Given the description of an element on the screen output the (x, y) to click on. 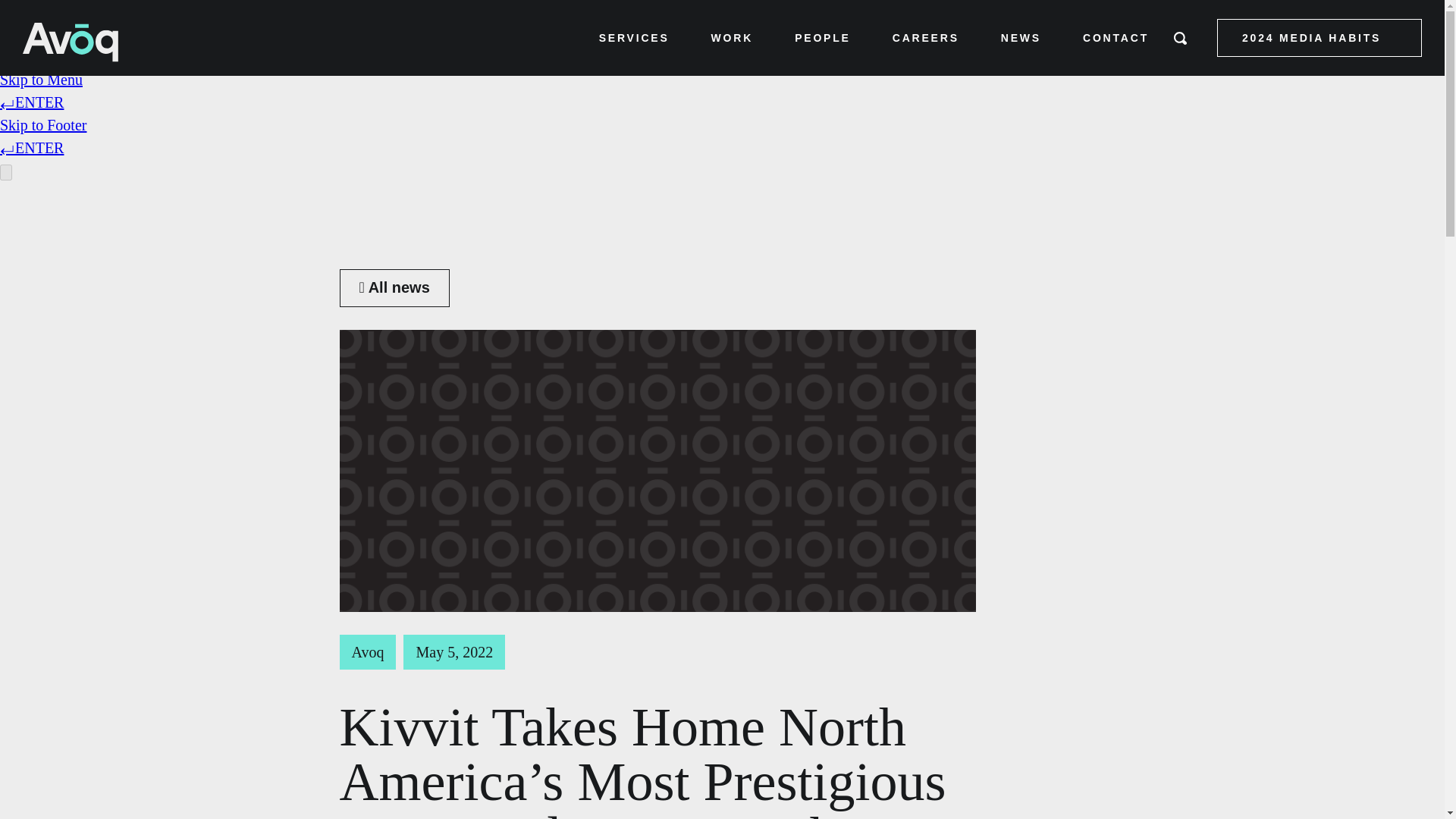
NEWS (1021, 37)
Work (732, 37)
PEOPLE (822, 37)
2024 MEDIA HABITS (1319, 37)
CONTACT (1115, 37)
All news (394, 288)
Careers (925, 37)
Search (1162, 37)
WORK (732, 37)
Contact (1115, 37)
Services (633, 37)
People (822, 37)
News (1021, 37)
SERVICES (633, 37)
CAREERS (925, 37)
